Given the description of an element on the screen output the (x, y) to click on. 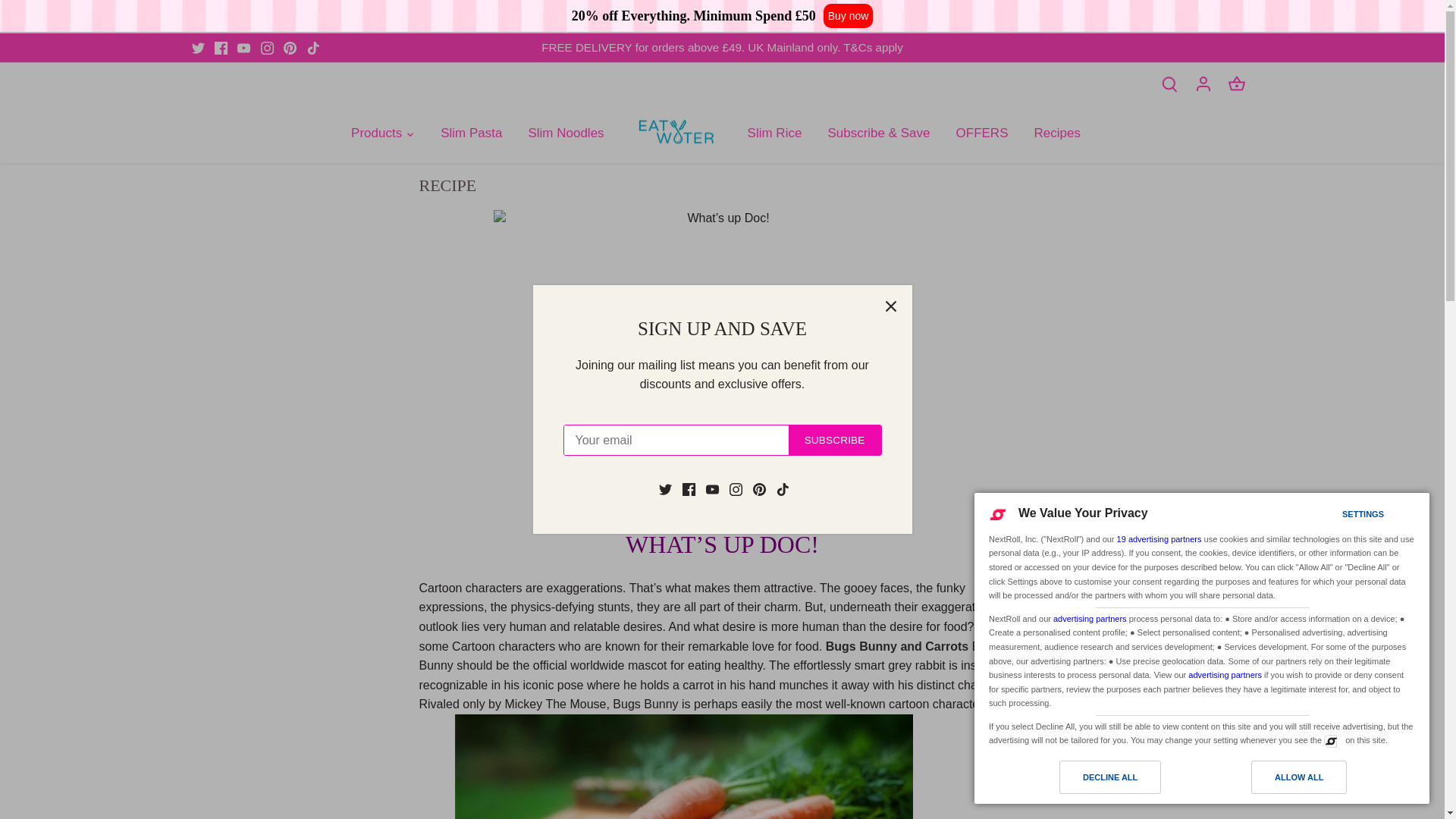
Slim Pasta (471, 133)
Manage consent preferences (1330, 740)
Products (382, 133)
